Given the description of an element on the screen output the (x, y) to click on. 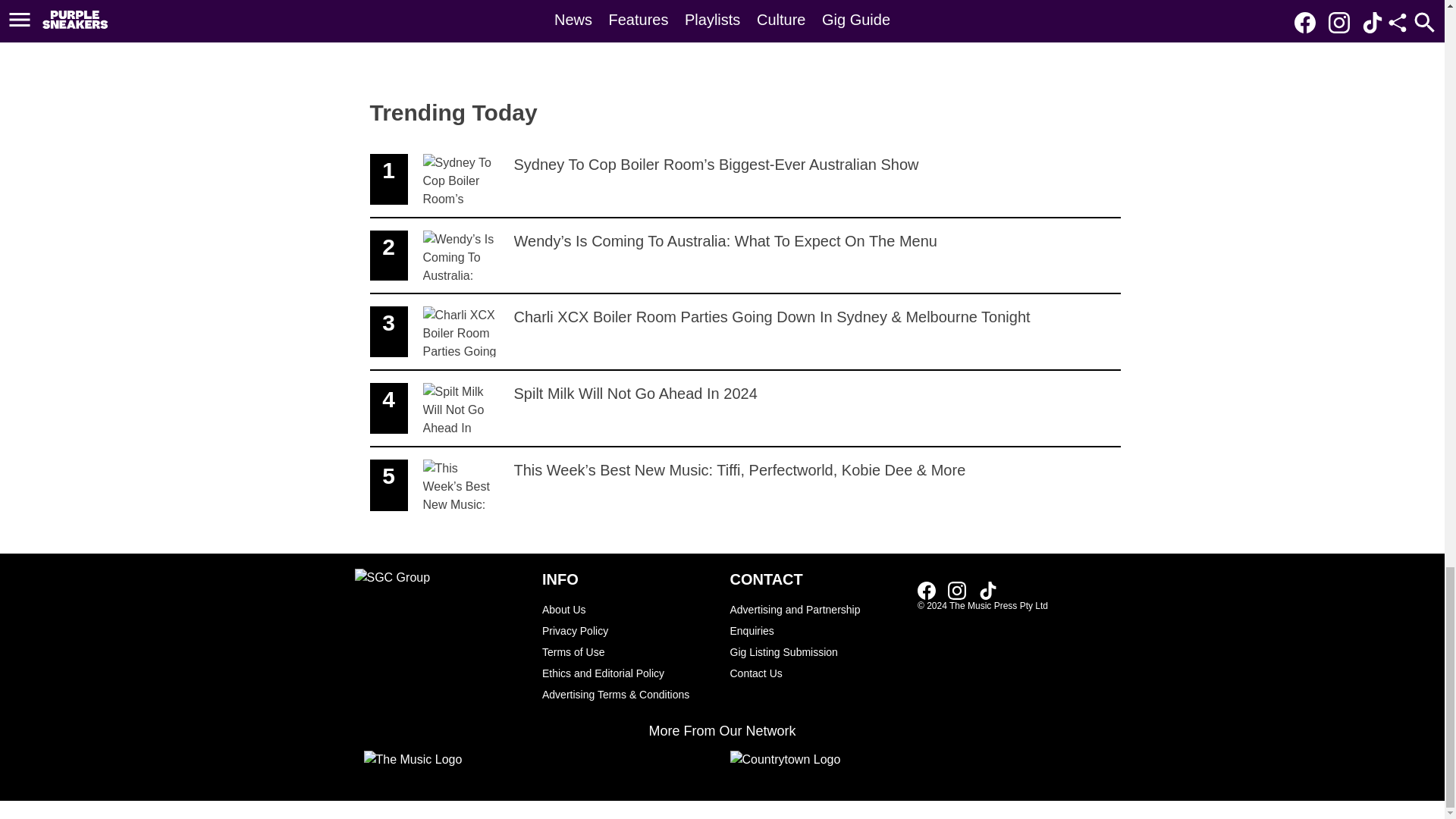
Link to our TikTok (987, 590)
Privacy Policy (745, 409)
Link to our Facebook (627, 630)
About Us (930, 589)
Link to our Instagram (627, 608)
Gig Listing Submission (961, 589)
Advertising and Partnership Enquiries (815, 651)
Link to our Instagram (815, 619)
Contact Us (956, 590)
Terms of Use (815, 672)
Link to our TikTok (627, 651)
Ethics and Editorial Policy (987, 589)
Link to our Facebook (627, 672)
